Given the description of an element on the screen output the (x, y) to click on. 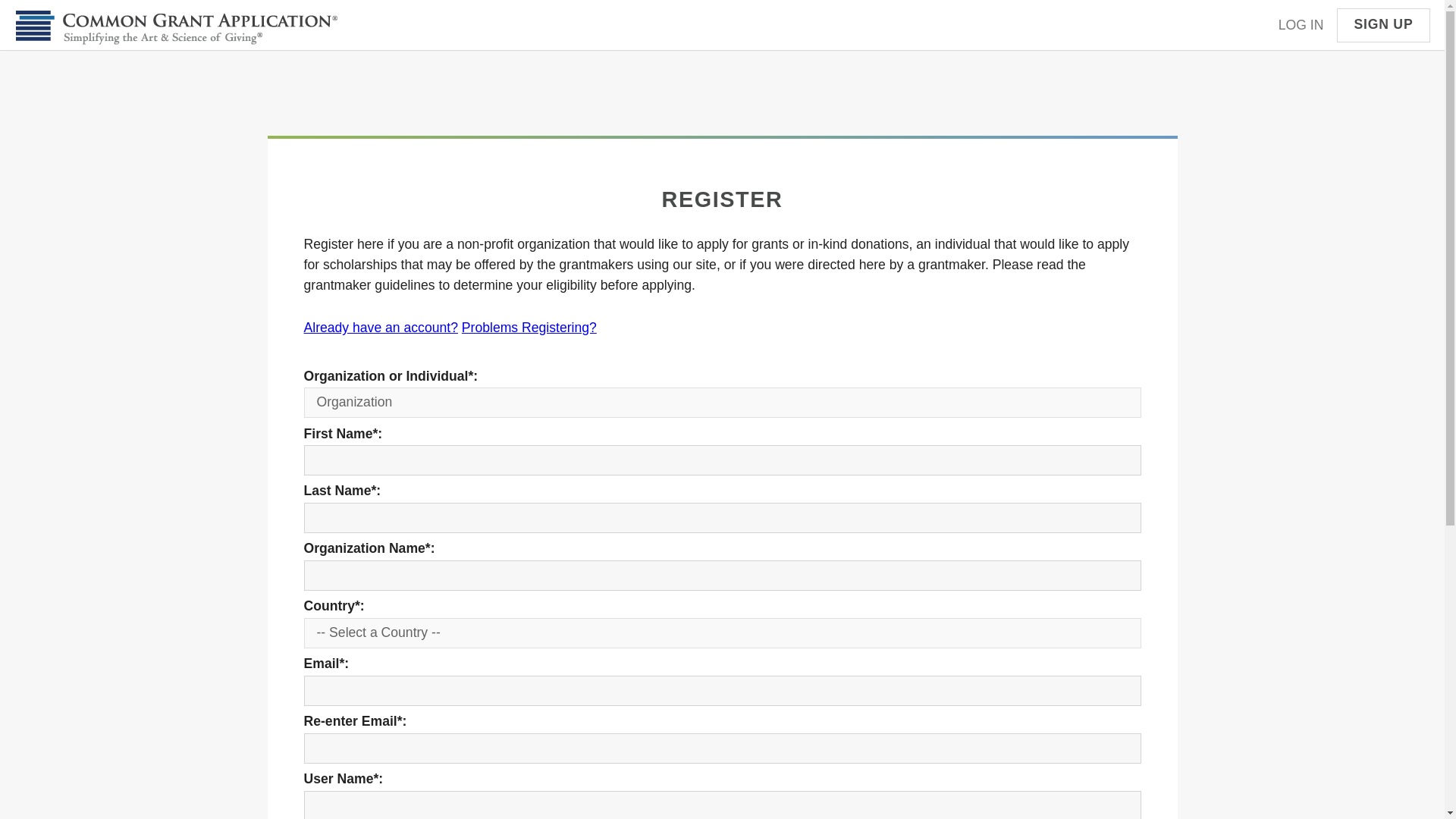
LOG IN (1300, 25)
Registration Help (528, 327)
Log In (379, 327)
SIGN UP (1382, 25)
Problems Registering? (528, 327)
Already have an account? (379, 327)
